Given the description of an element on the screen output the (x, y) to click on. 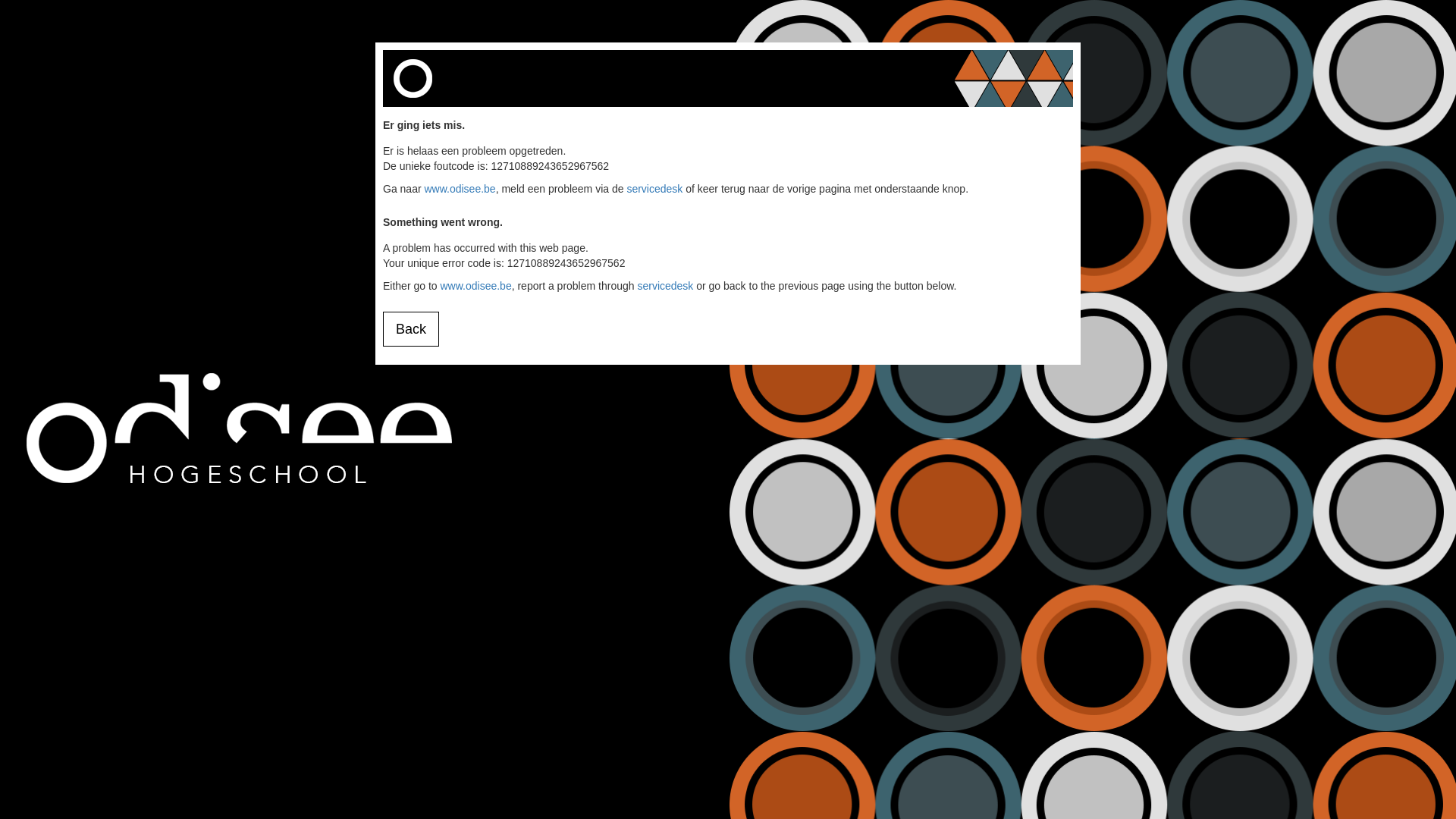
www.odisee.be Element type: text (459, 188)
www.odisee.be Element type: text (475, 285)
servicedesk Element type: text (665, 285)
servicedesk Element type: text (654, 188)
Back Element type: text (410, 328)
